Given the description of an element on the screen output the (x, y) to click on. 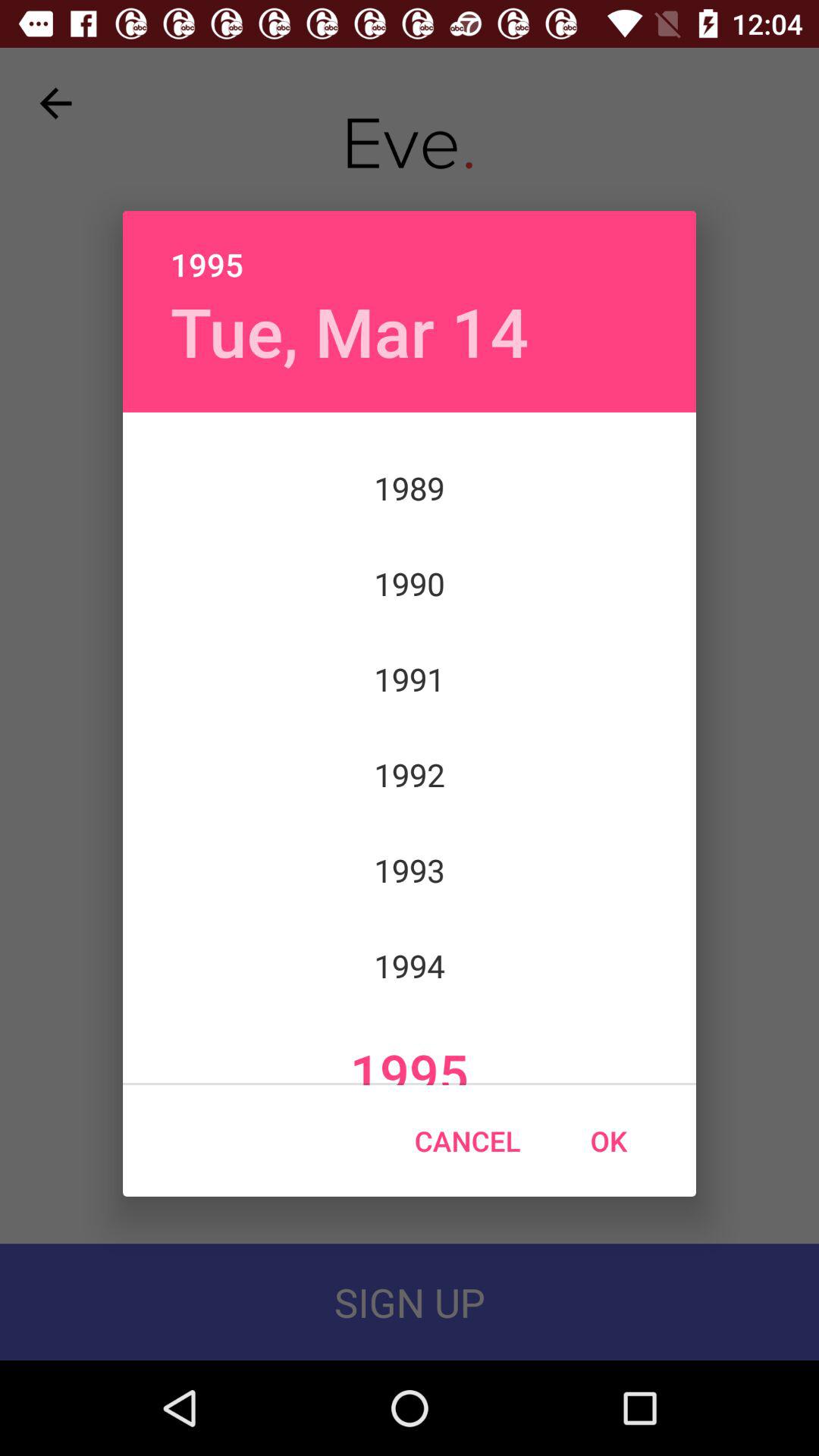
click the ok (608, 1140)
